Given the description of an element on the screen output the (x, y) to click on. 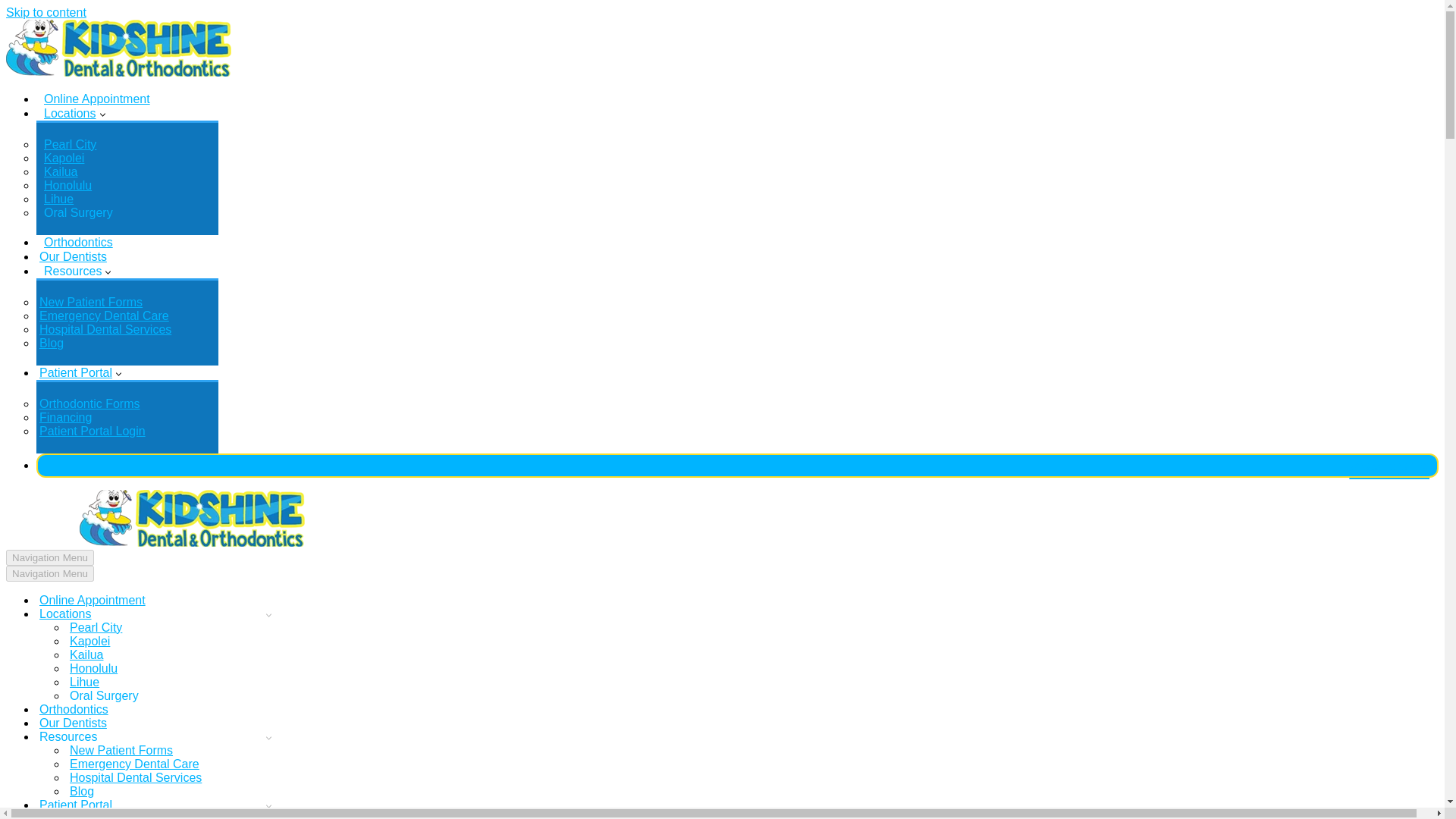
Orthodontics (76, 242)
Locations (67, 113)
Orthodontic Forms (89, 404)
Lihue (56, 199)
Oral Surgery (76, 213)
Kailua (58, 172)
Emergency Dental Care (172, 764)
Honolulu (172, 668)
Emergency Dental Care (103, 315)
Hospital Dental Services (105, 329)
